Given the description of an element on the screen output the (x, y) to click on. 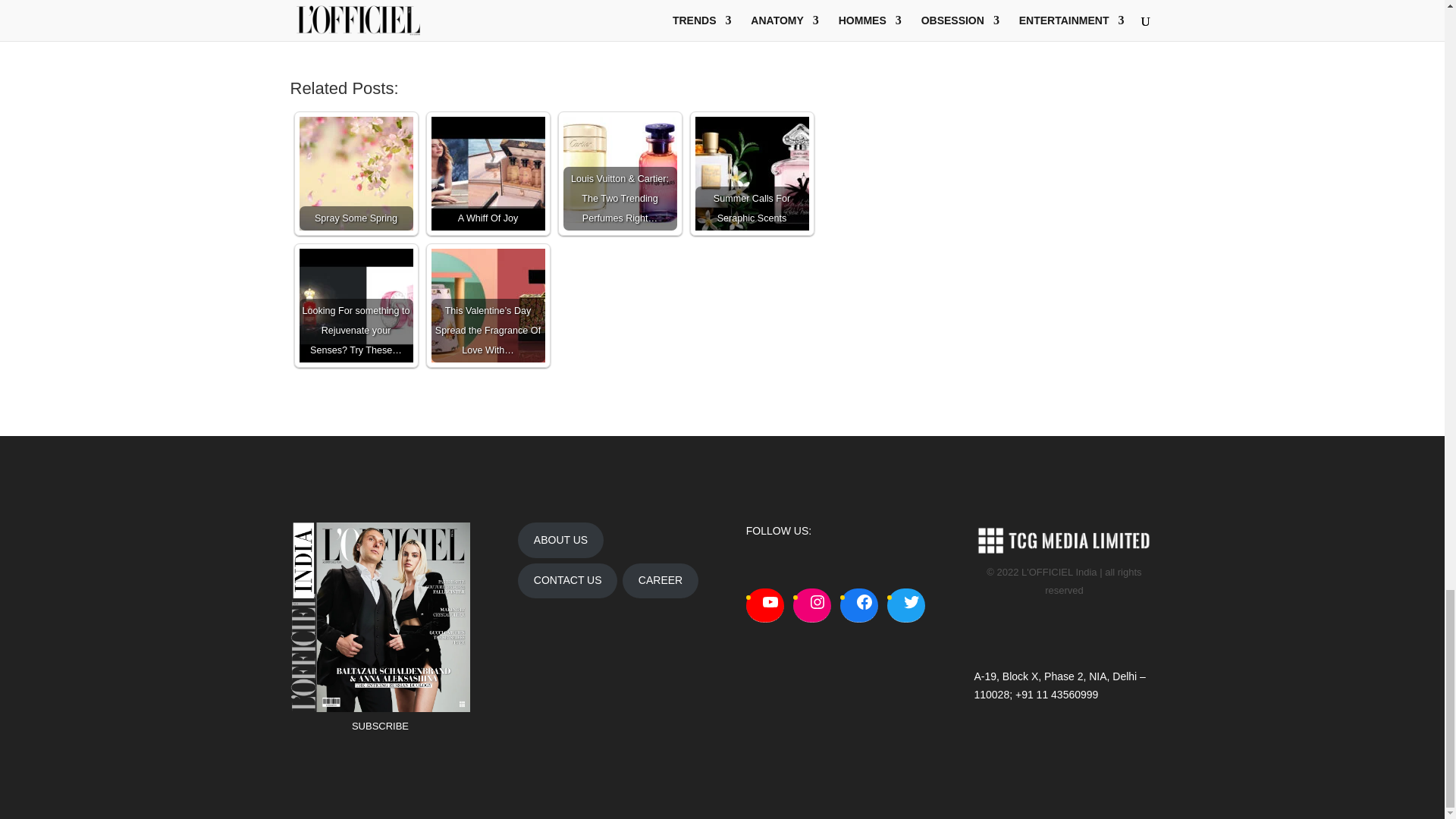
A Whiff Of Joy (487, 173)
Summer Calls For Seraphic Scents (751, 173)
Spray Some Spring (355, 173)
